Given the description of an element on the screen output the (x, y) to click on. 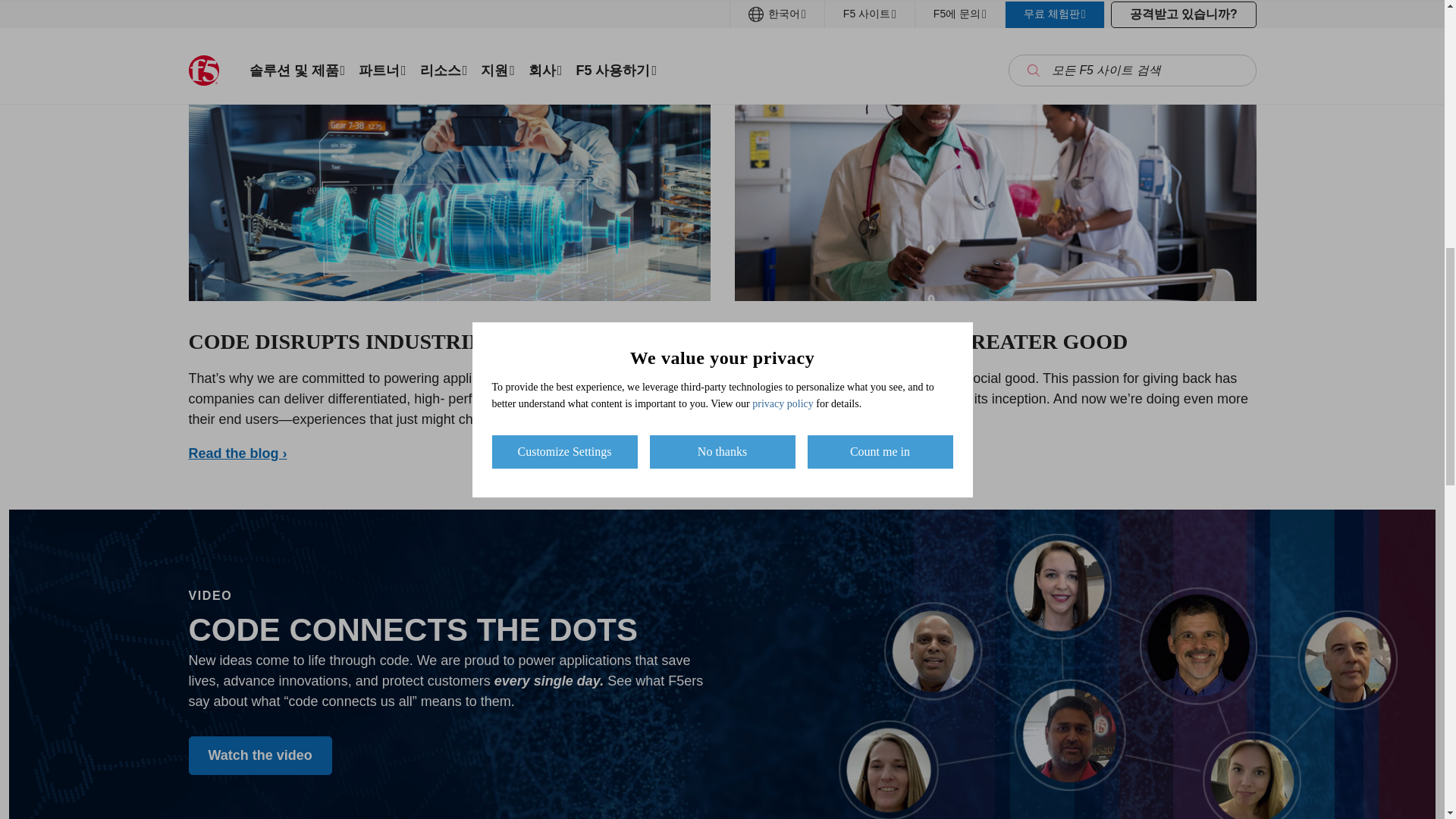
Watch the video (259, 755)
